Given the description of an element on the screen output the (x, y) to click on. 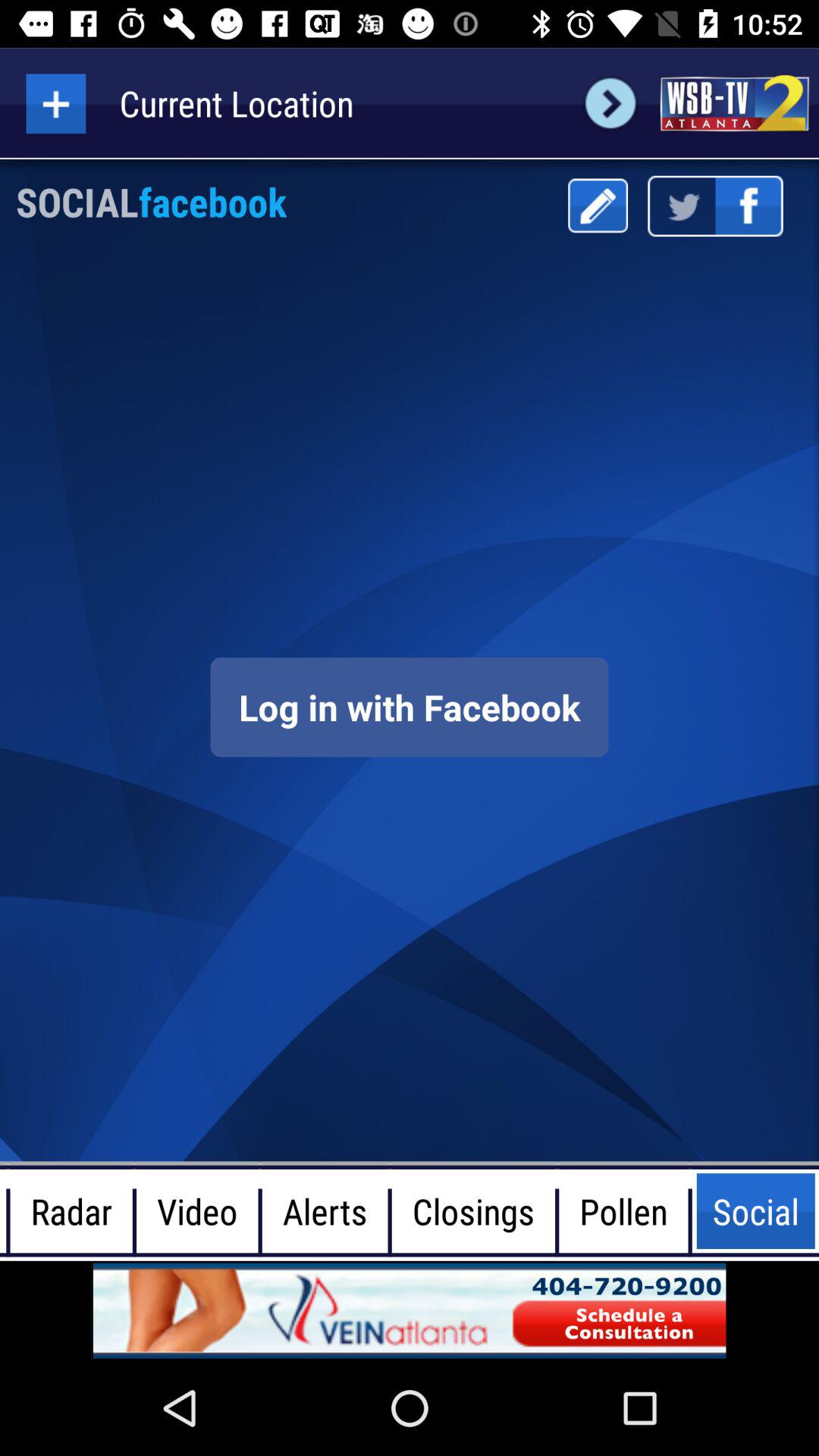
go foward (610, 103)
